Given the description of an element on the screen output the (x, y) to click on. 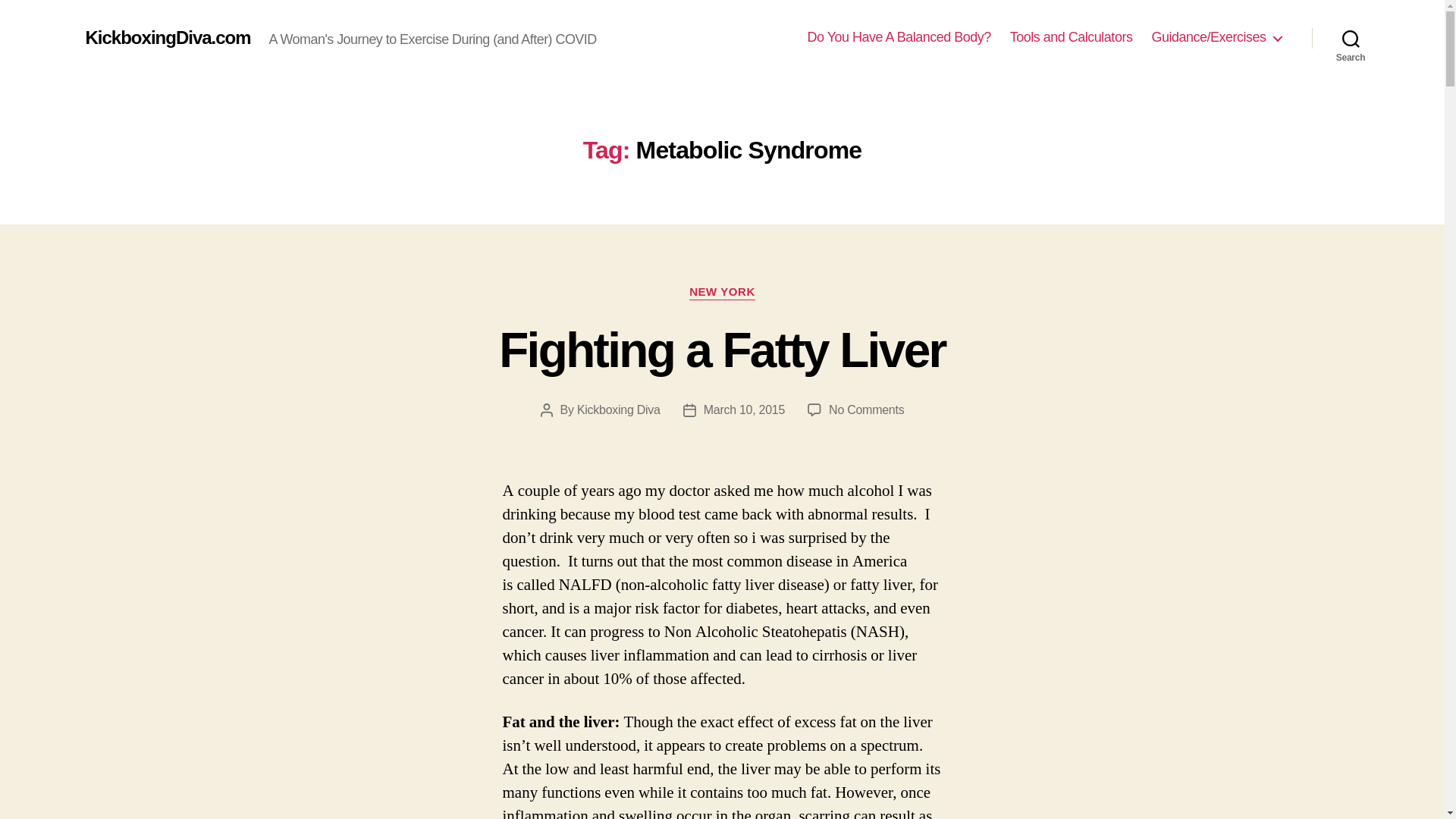
Do You Have A Balanced Body? (899, 37)
Search (1350, 37)
Tools and Calculators (1071, 37)
Fighting a Fatty Liver (866, 409)
Kickboxing Diva (721, 349)
NEW YORK (618, 409)
KickboxingDiva.com (721, 292)
March 10, 2015 (167, 37)
